Given the description of an element on the screen output the (x, y) to click on. 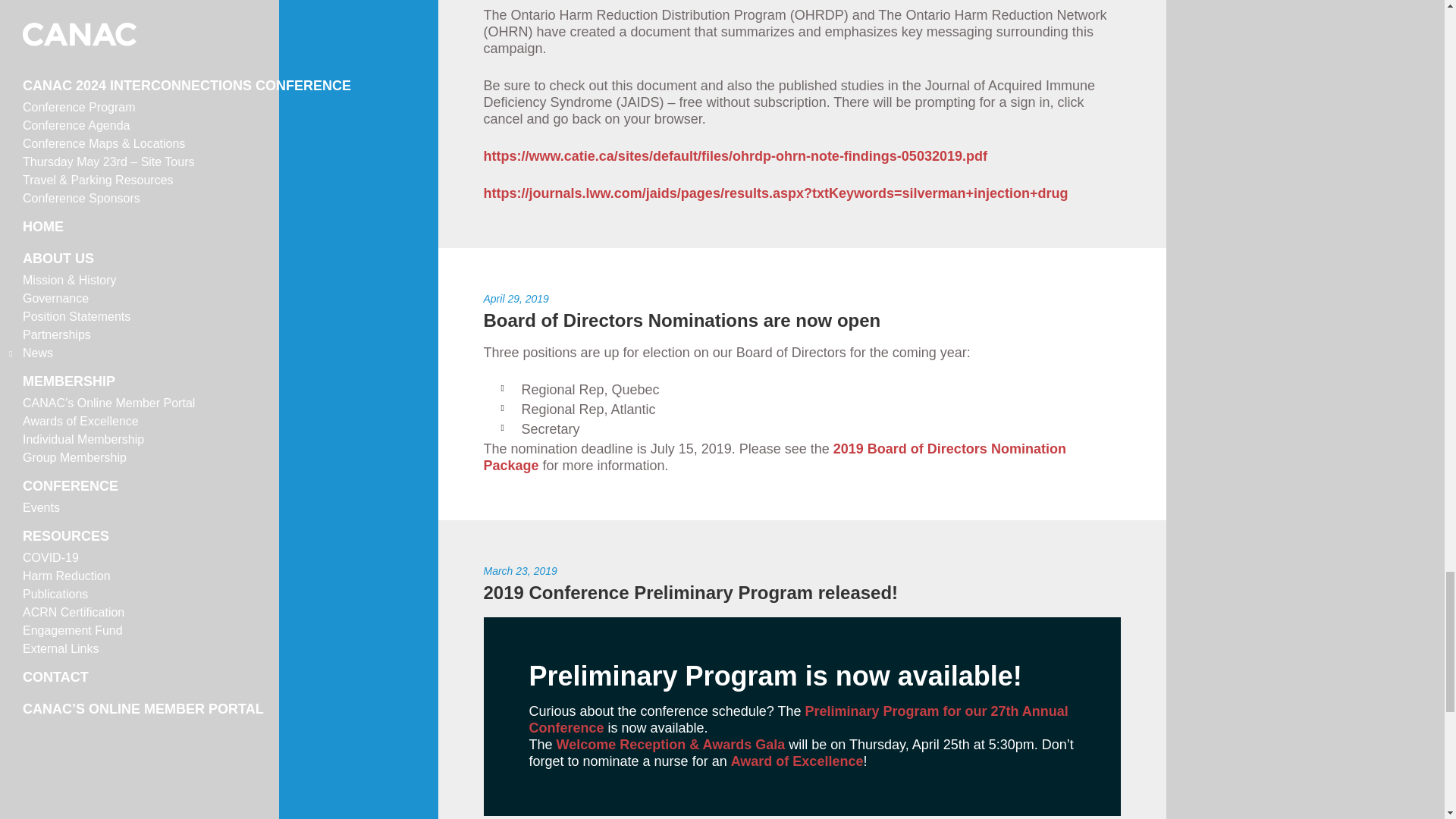
Page 2 (802, 736)
